Given the description of an element on the screen output the (x, y) to click on. 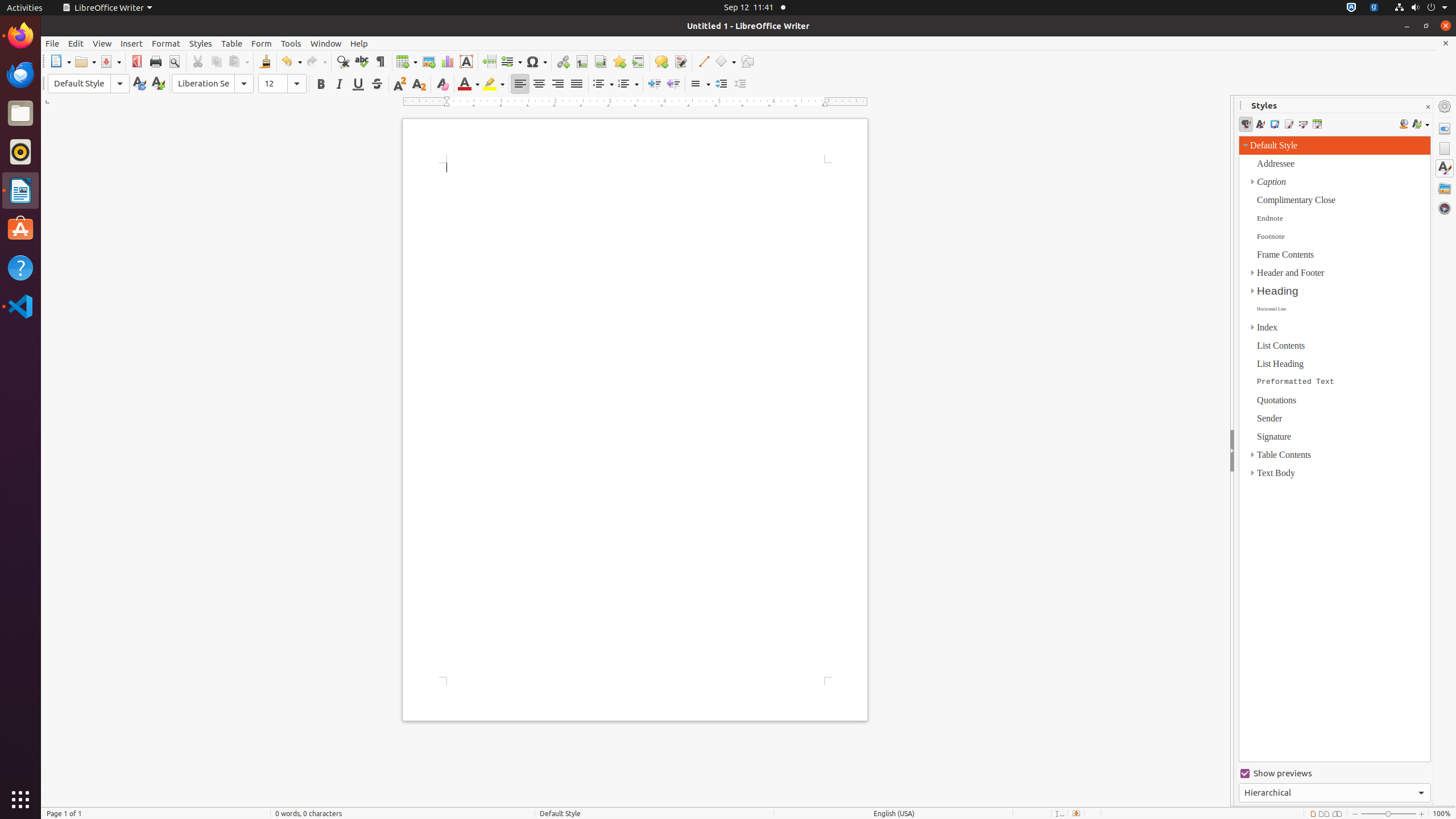
Find & Replace Element type: toggle-button (342, 61)
Line Element type: toggle-button (702, 61)
Show previews Element type: check-box (1334, 773)
Close Sidebar Deck Element type: push-button (1427, 106)
Undo Element type: push-button (290, 61)
